Given the description of an element on the screen output the (x, y) to click on. 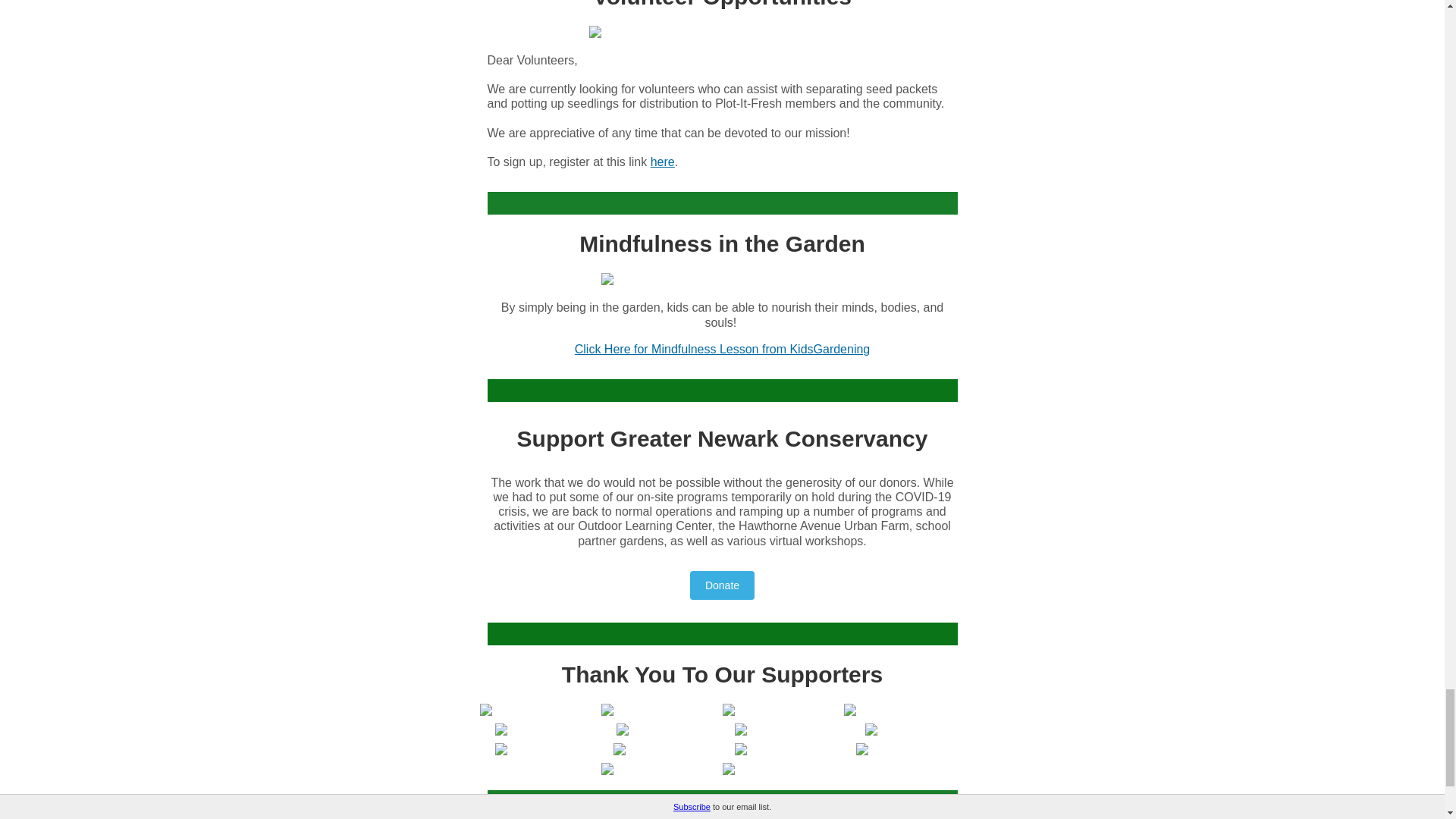
Donate (722, 584)
Click Here for Mindfulness Lesson from KidsGardening (722, 349)
here (662, 161)
